Given the description of an element on the screen output the (x, y) to click on. 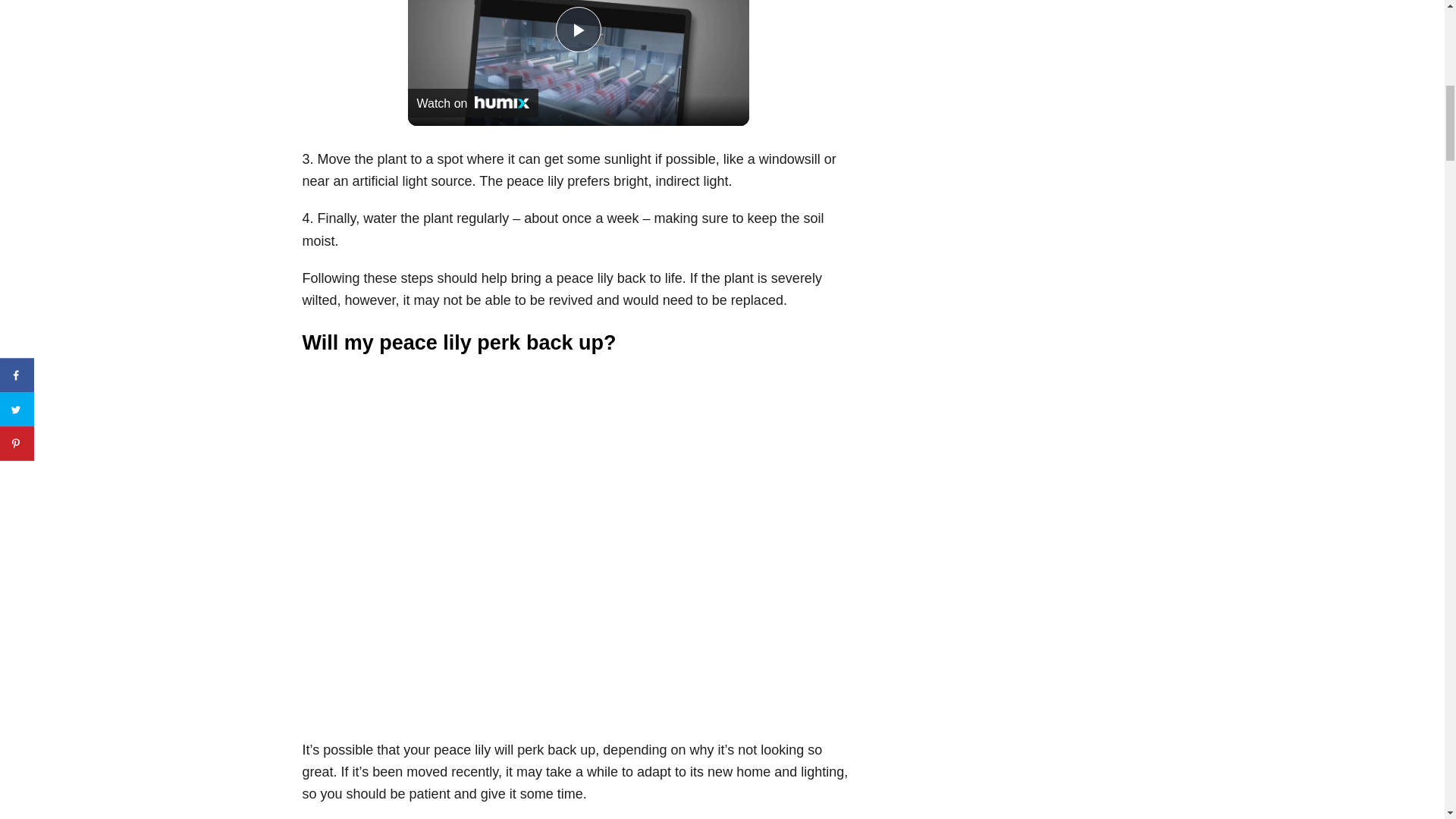
Watch on (472, 102)
Play Video (576, 29)
Play Video (576, 29)
